Given the description of an element on the screen output the (x, y) to click on. 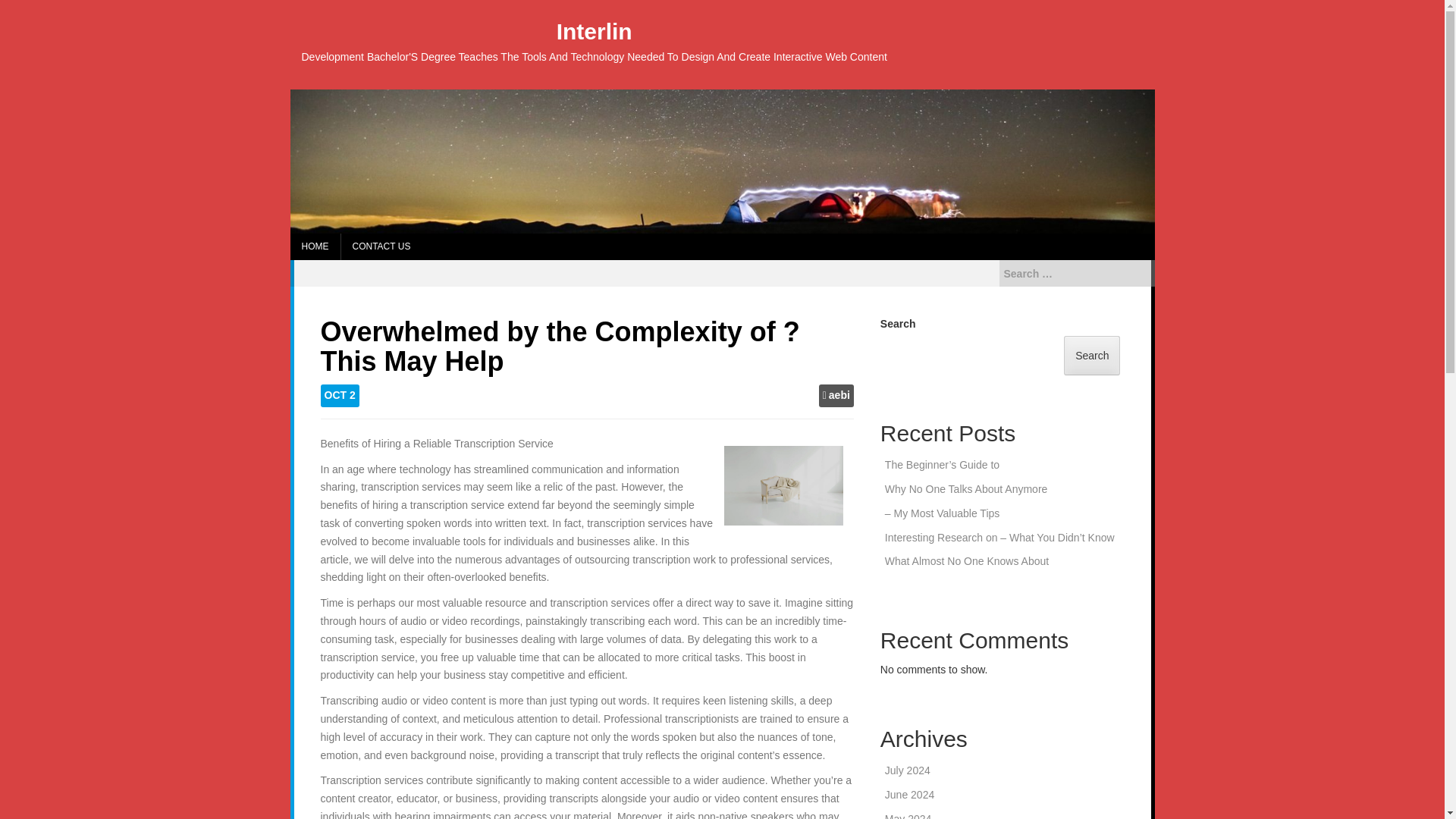
aebi (839, 395)
Interlin (593, 31)
HOME (314, 246)
Search (1091, 355)
May 2024 (908, 816)
Search (24, 9)
July 2024 (907, 770)
CONTACT US (381, 246)
Why No One Talks About Anymore (966, 489)
June 2024 (909, 794)
What Almost No One Knows About (966, 561)
